Given the description of an element on the screen output the (x, y) to click on. 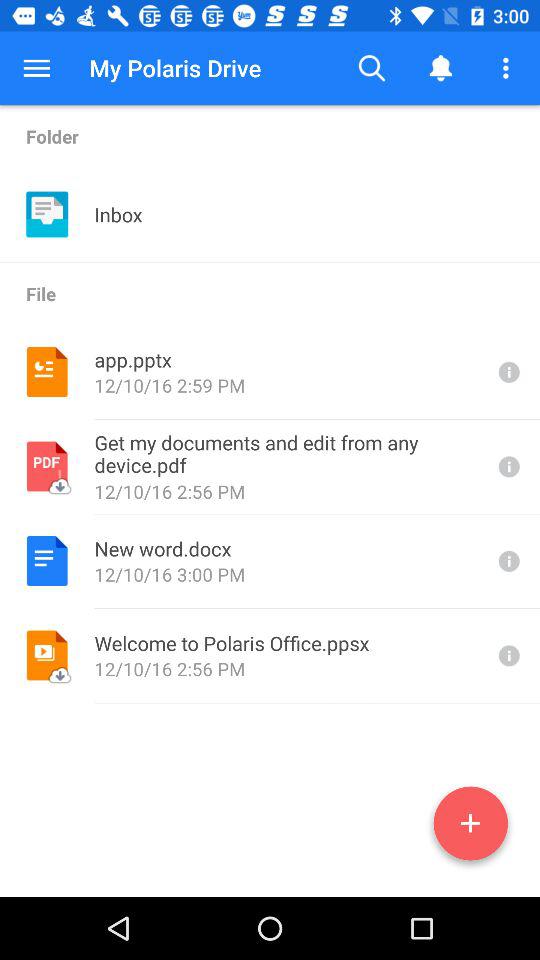
add more (470, 827)
